Given the description of an element on the screen output the (x, y) to click on. 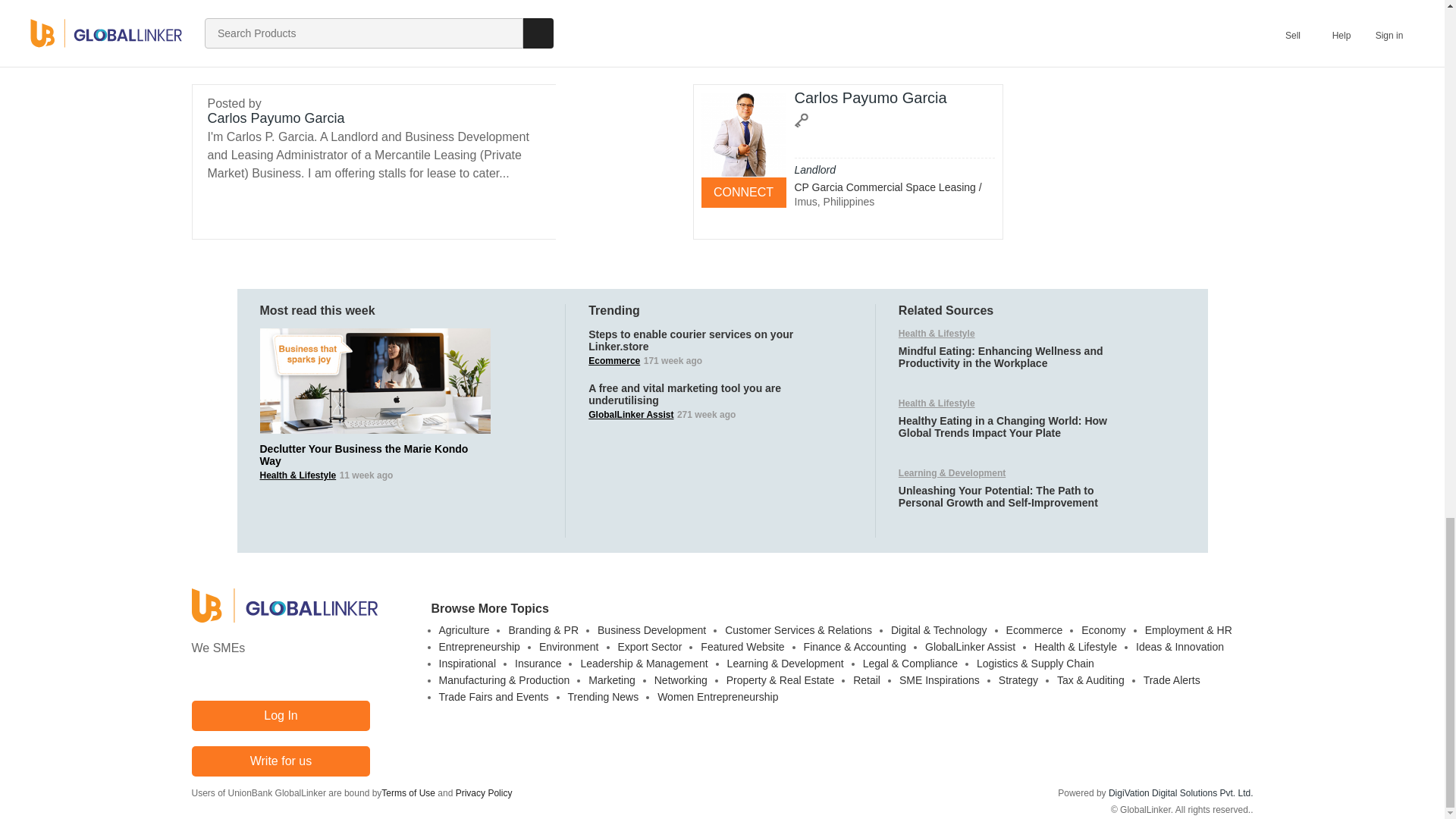
Carlos Garcia (743, 134)
